Given the description of an element on the screen output the (x, y) to click on. 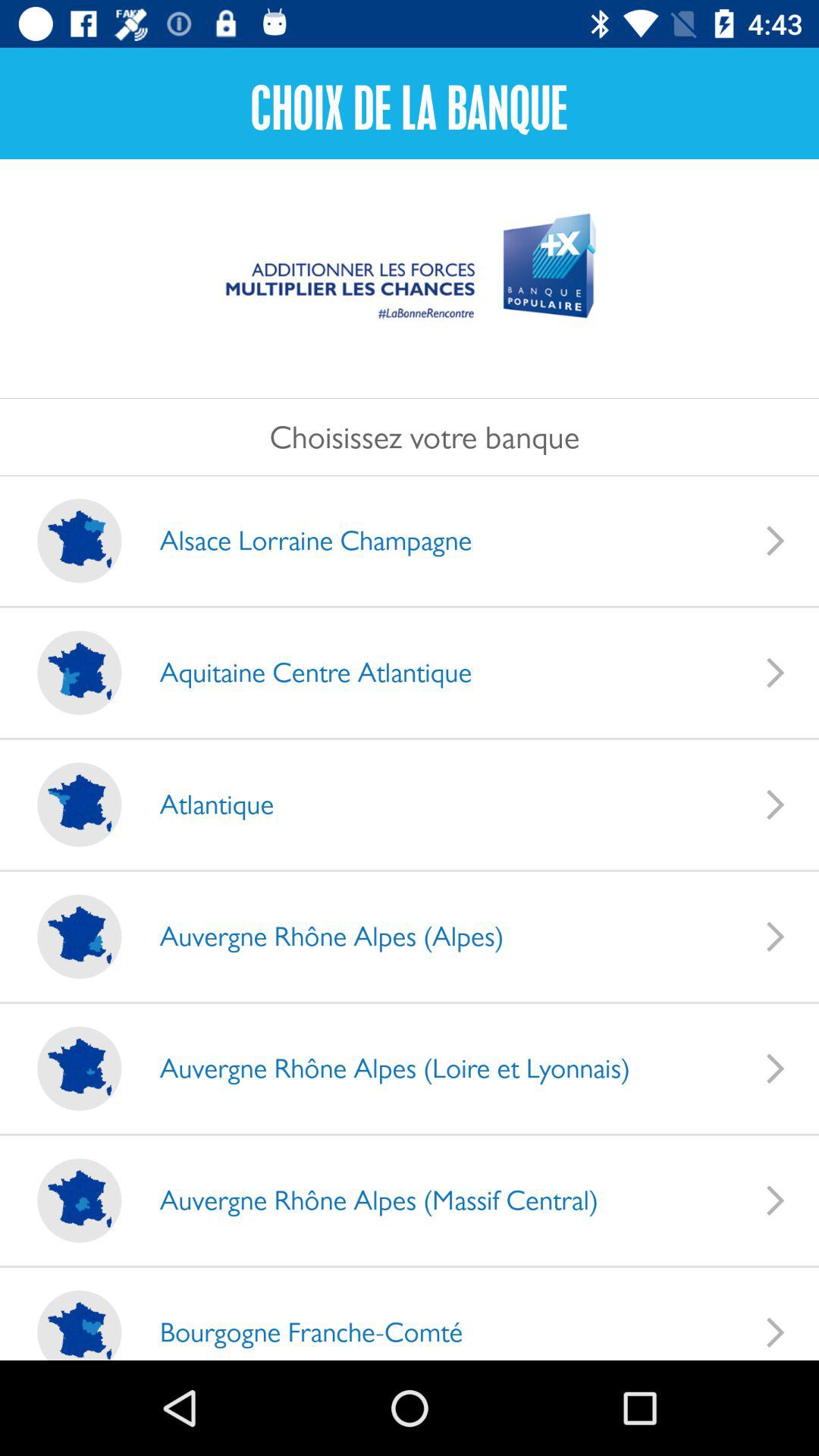
flip until the aquitaine centre atlantique app (300, 672)
